Given the description of an element on the screen output the (x, y) to click on. 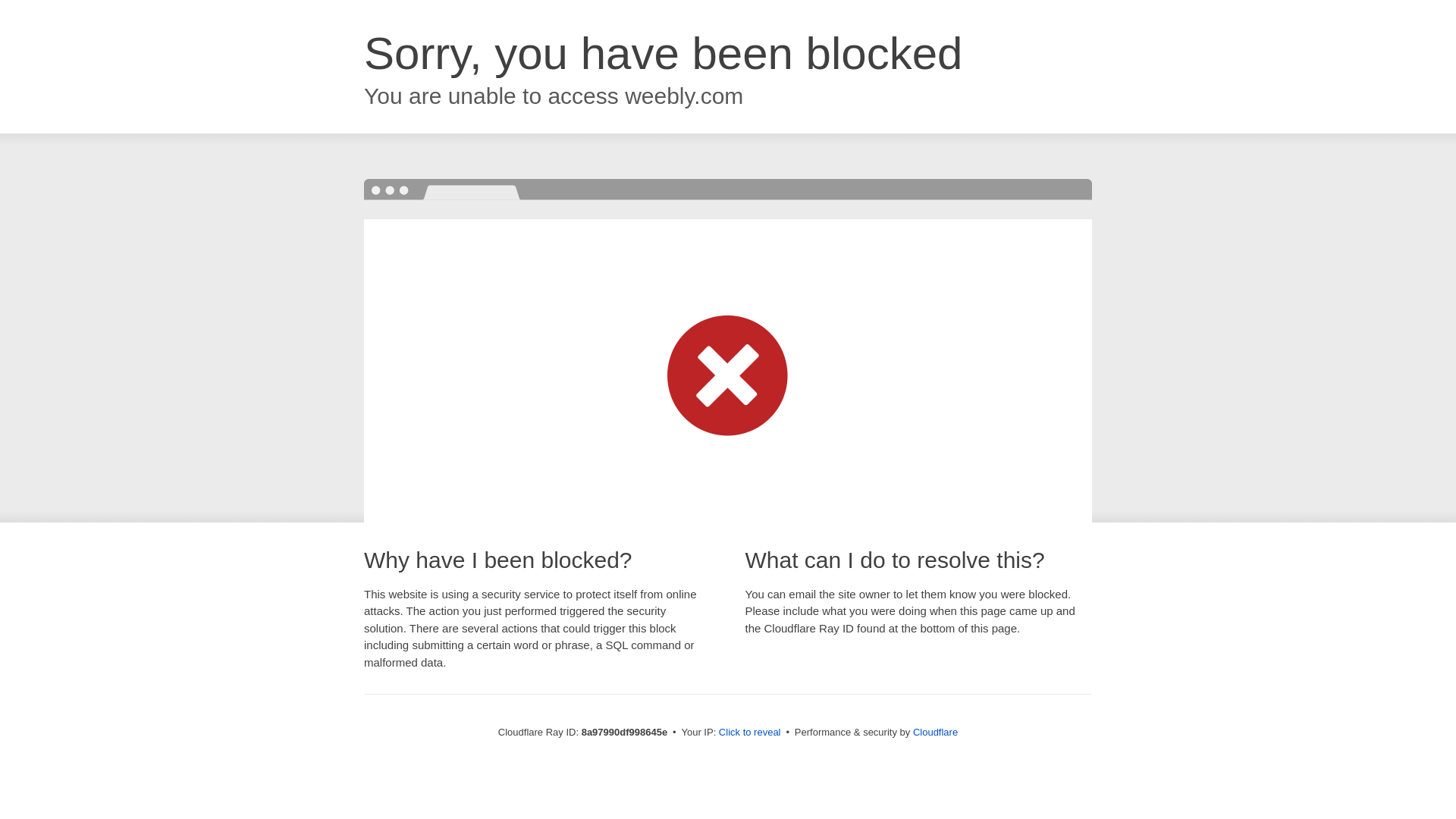
Click to reveal (749, 732)
Cloudflare (935, 731)
